Given the description of an element on the screen output the (x, y) to click on. 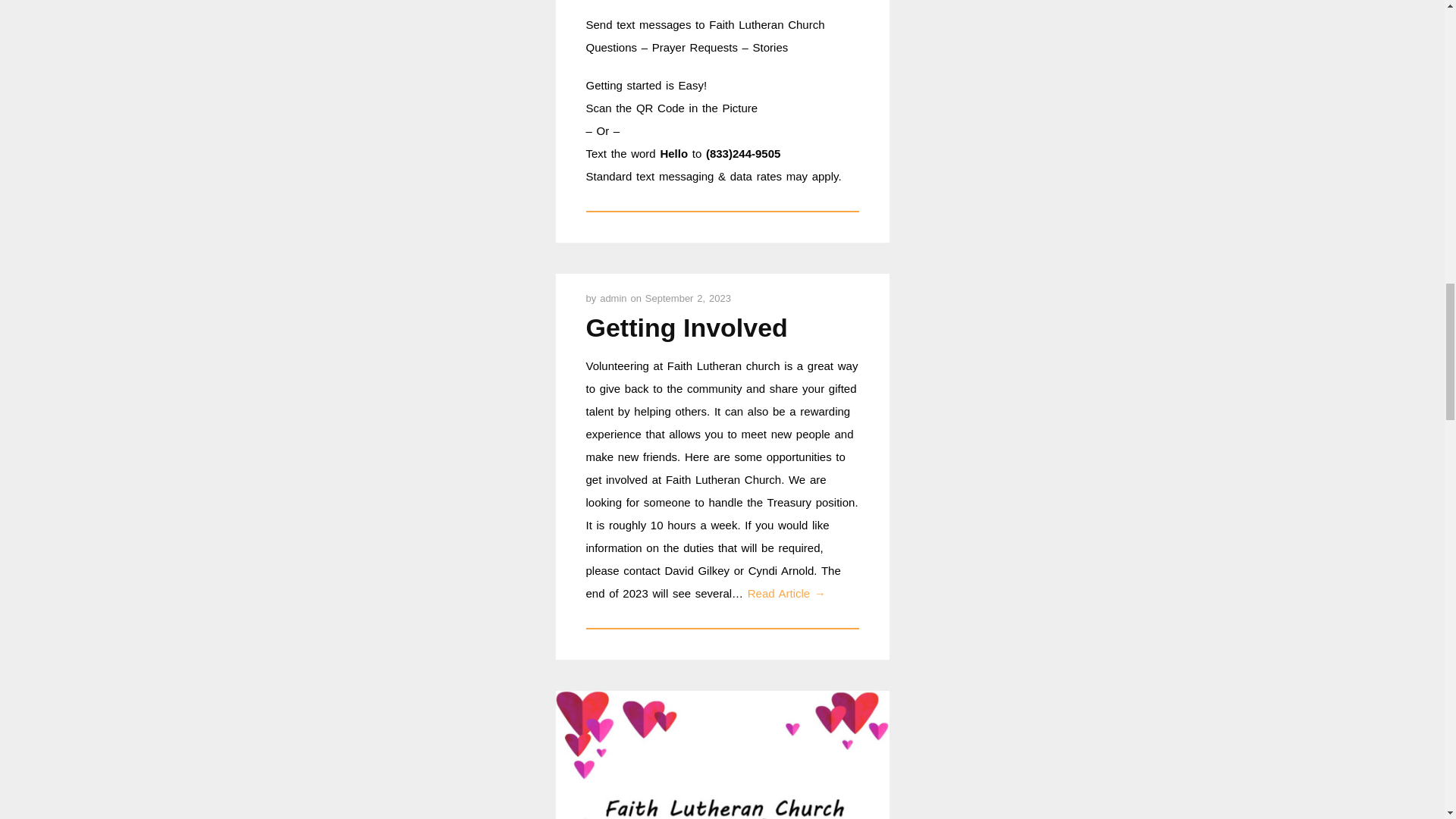
admin (614, 297)
Getting Involved (686, 327)
Getting Involved (686, 327)
